Given the description of an element on the screen output the (x, y) to click on. 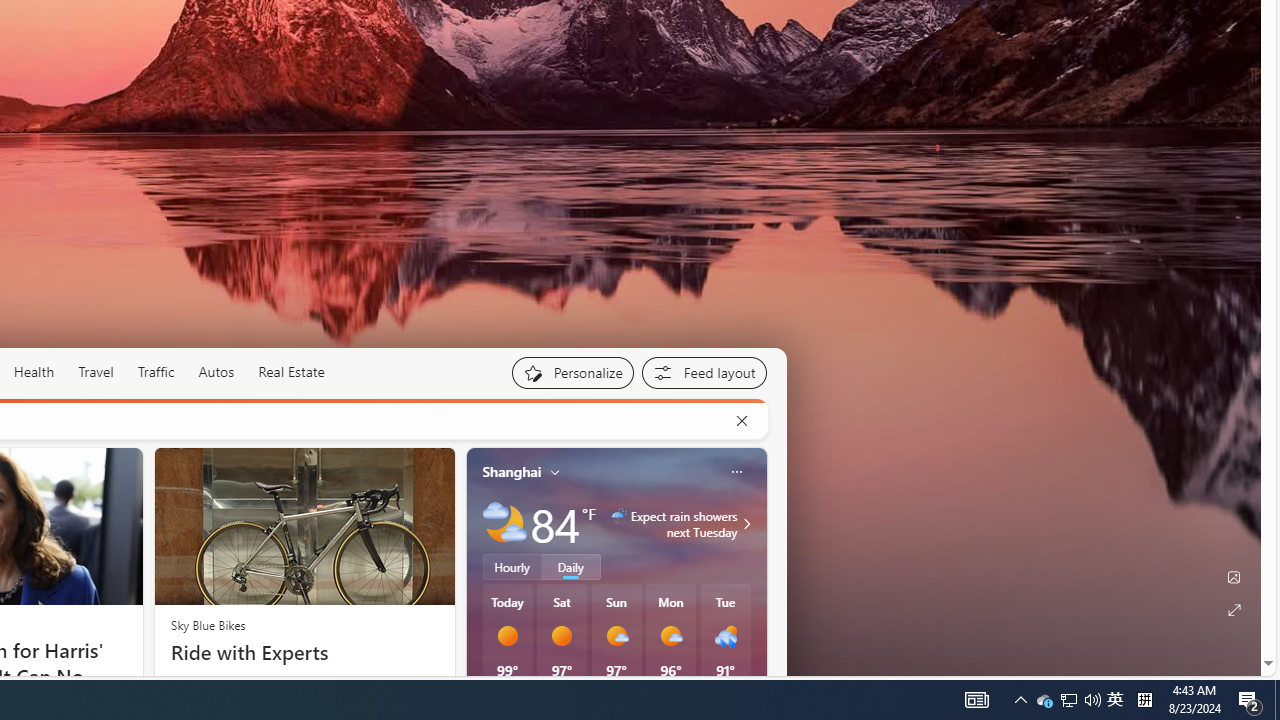
Expand background (1233, 610)
Autos (216, 372)
Health (34, 371)
Real Estate (291, 371)
Real Estate (290, 372)
Shanghai (511, 471)
Ride with Experts (304, 652)
